Given the description of an element on the screen output the (x, y) to click on. 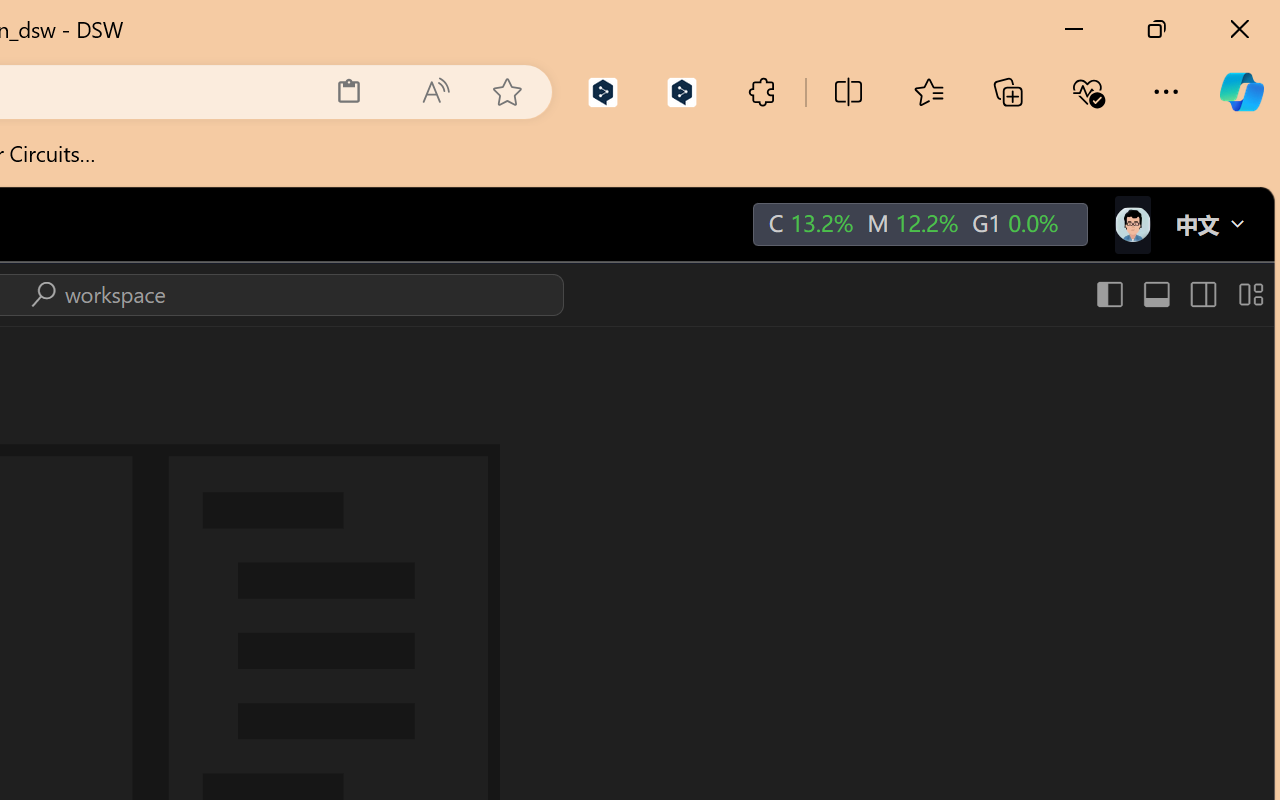
Toggle Panel (Ctrl+J) (1155, 294)
icon (1131, 224)
Toggle Primary Side Bar (Ctrl+B) (1108, 294)
